Given the description of an element on the screen output the (x, y) to click on. 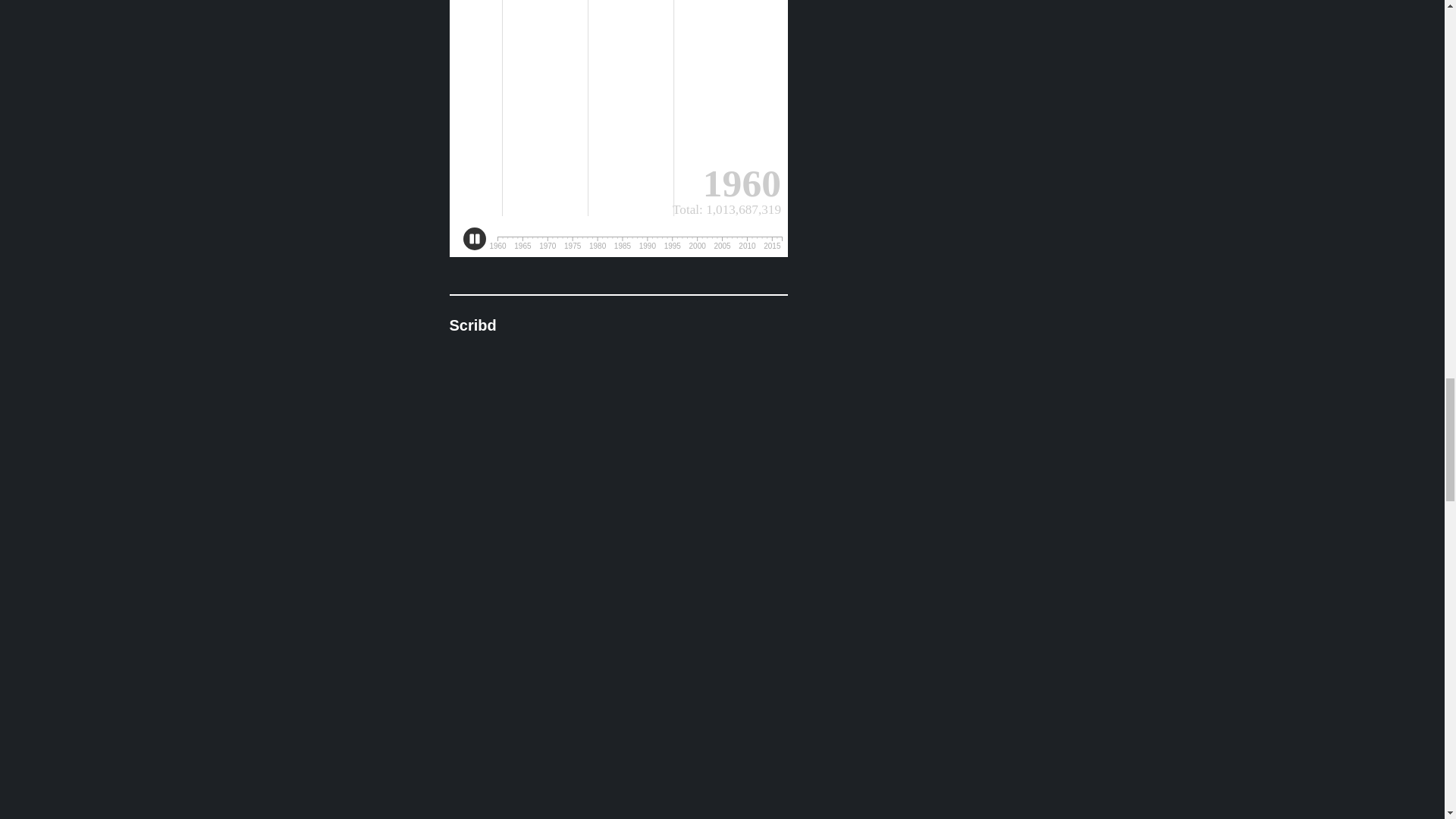
Interactive or visual content (617, 128)
